Given the description of an element on the screen output the (x, y) to click on. 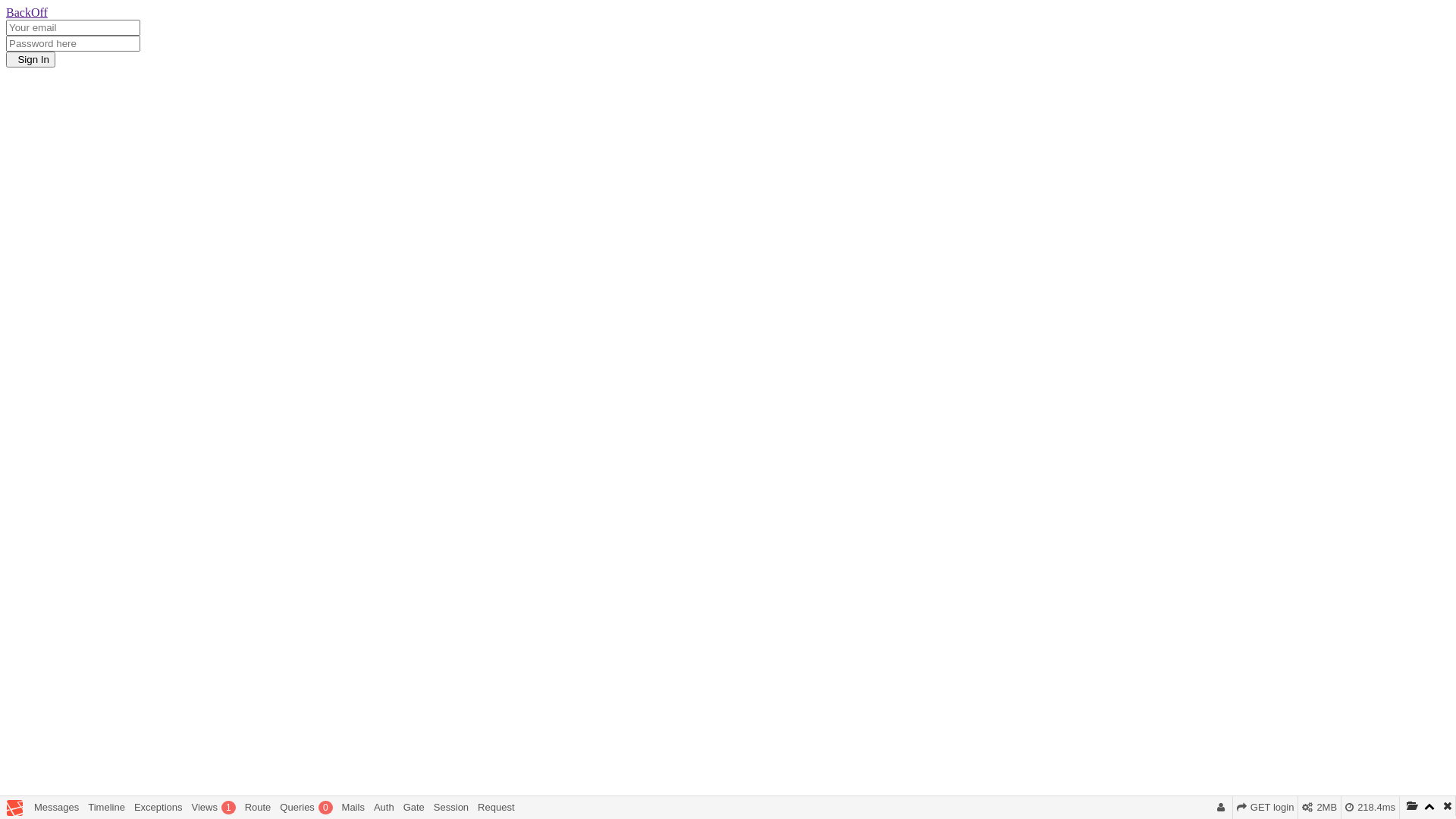
  Sign In Element type: text (30, 59)
BackOff Element type: text (26, 12)
